Given the description of an element on the screen output the (x, y) to click on. 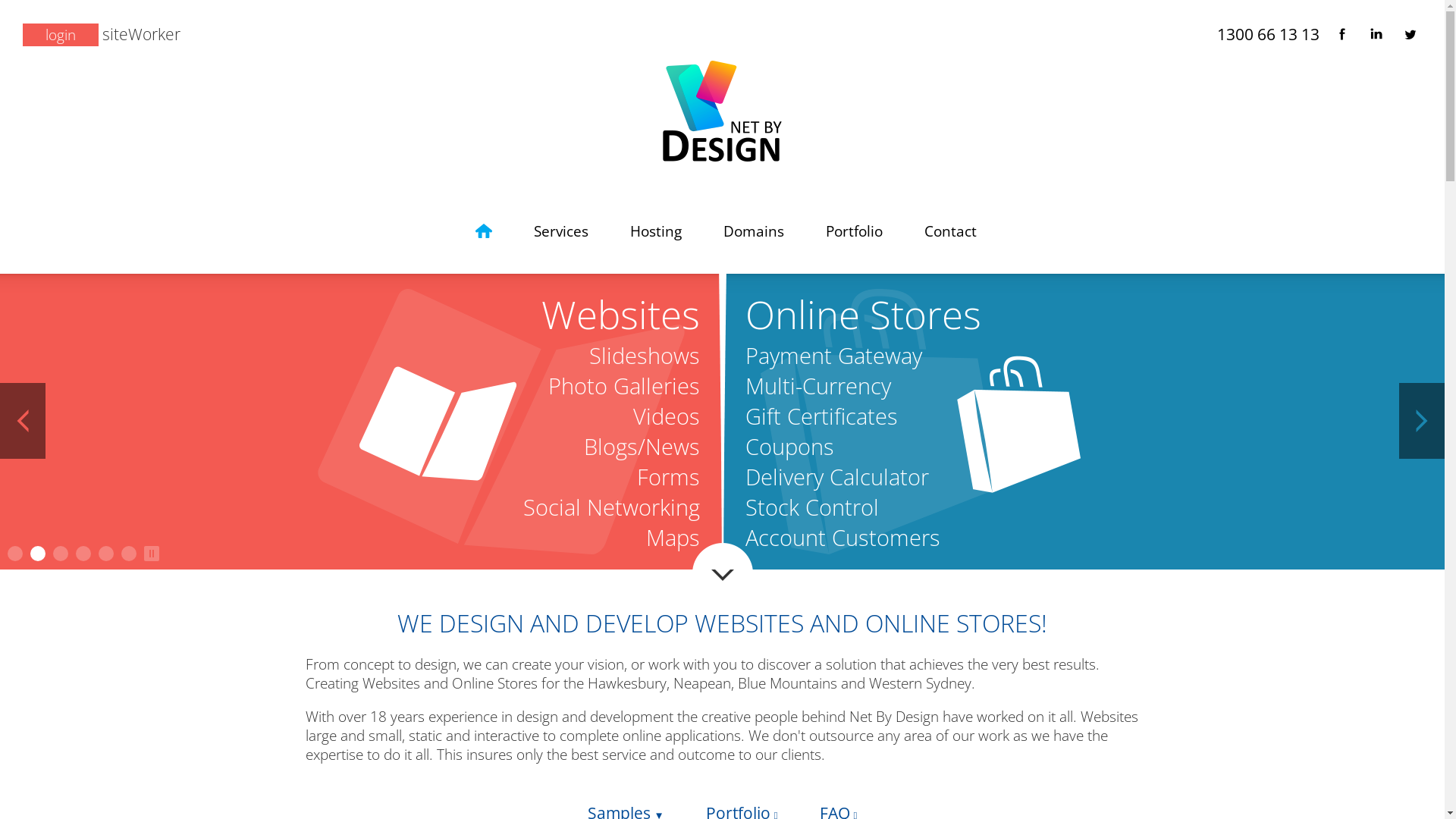
Home Element type: hover (483, 230)
Hosting Element type: text (655, 230)
login Element type: text (60, 34)
Portfolio Element type: text (853, 230)
Contact Element type: text (950, 230)
Domains Element type: text (753, 230)
